Given the description of an element on the screen output the (x, y) to click on. 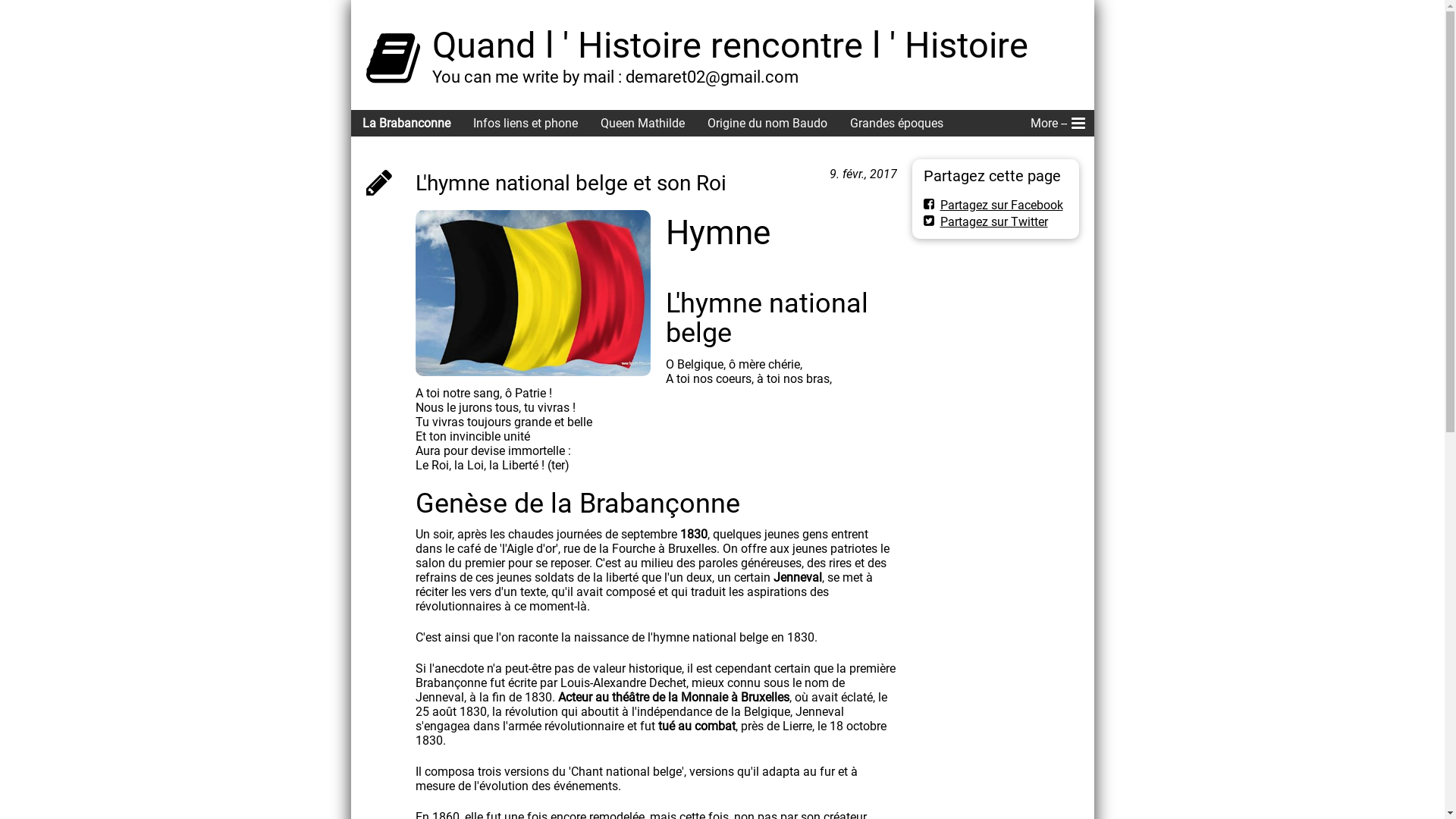
Quand l ' Histoire rencontre l ' Histoire Element type: text (730, 44)
Partagez sur Twitter Element type: text (985, 221)
More -- Element type: text (1056, 122)
Queen Mathilde Element type: text (641, 122)
Partagez sur Facebook Element type: text (993, 204)
La Brabanconne Element type: text (405, 122)
L'hymne national belge et son Roi Element type: hover (378, 181)
Origine du nom Baudo Element type: text (767, 122)
Infos liens et phone Element type: text (524, 122)
